Given the description of an element on the screen output the (x, y) to click on. 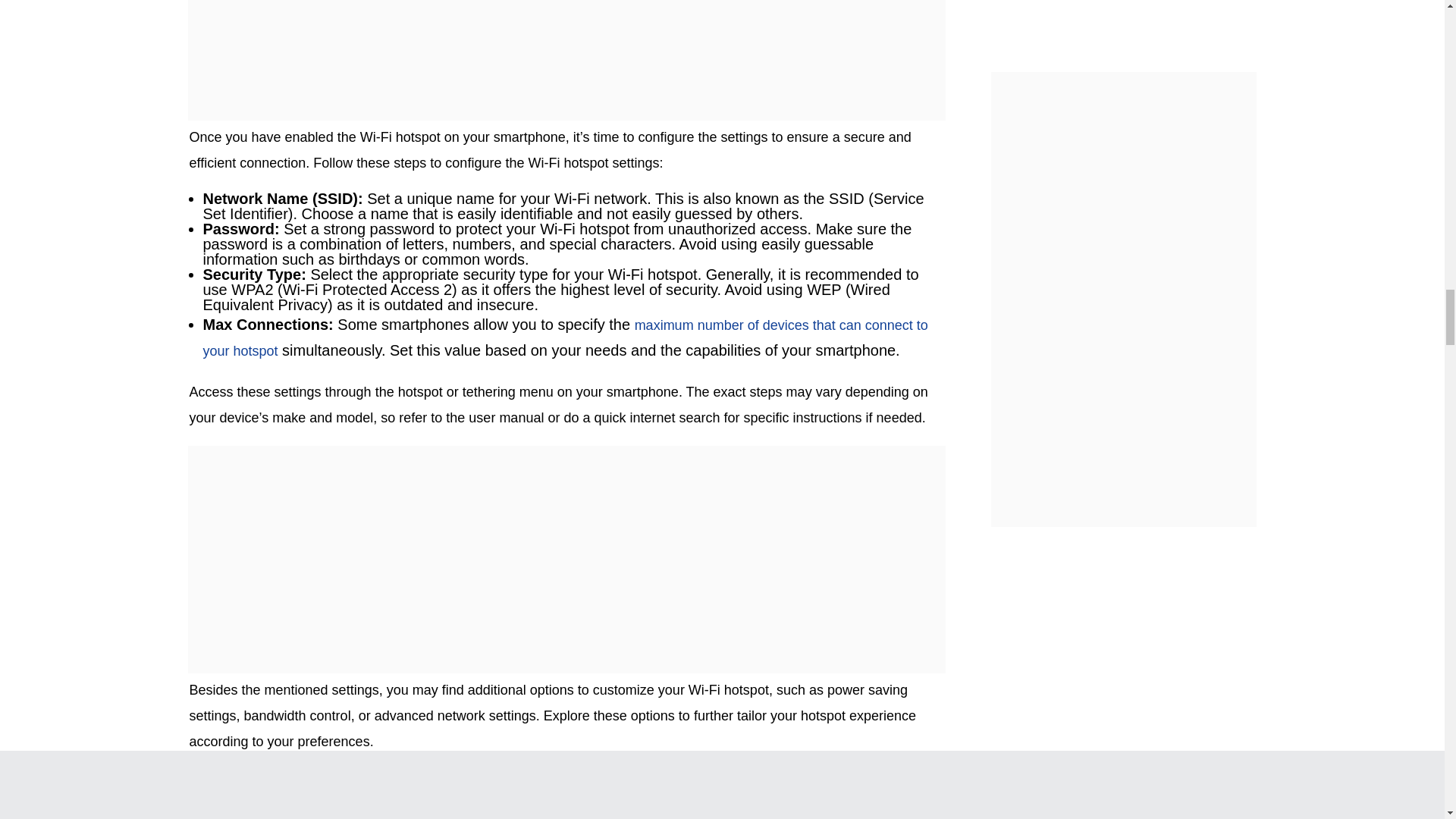
maximum number of devices that can connect to your hotspot (565, 337)
